Given the description of an element on the screen output the (x, y) to click on. 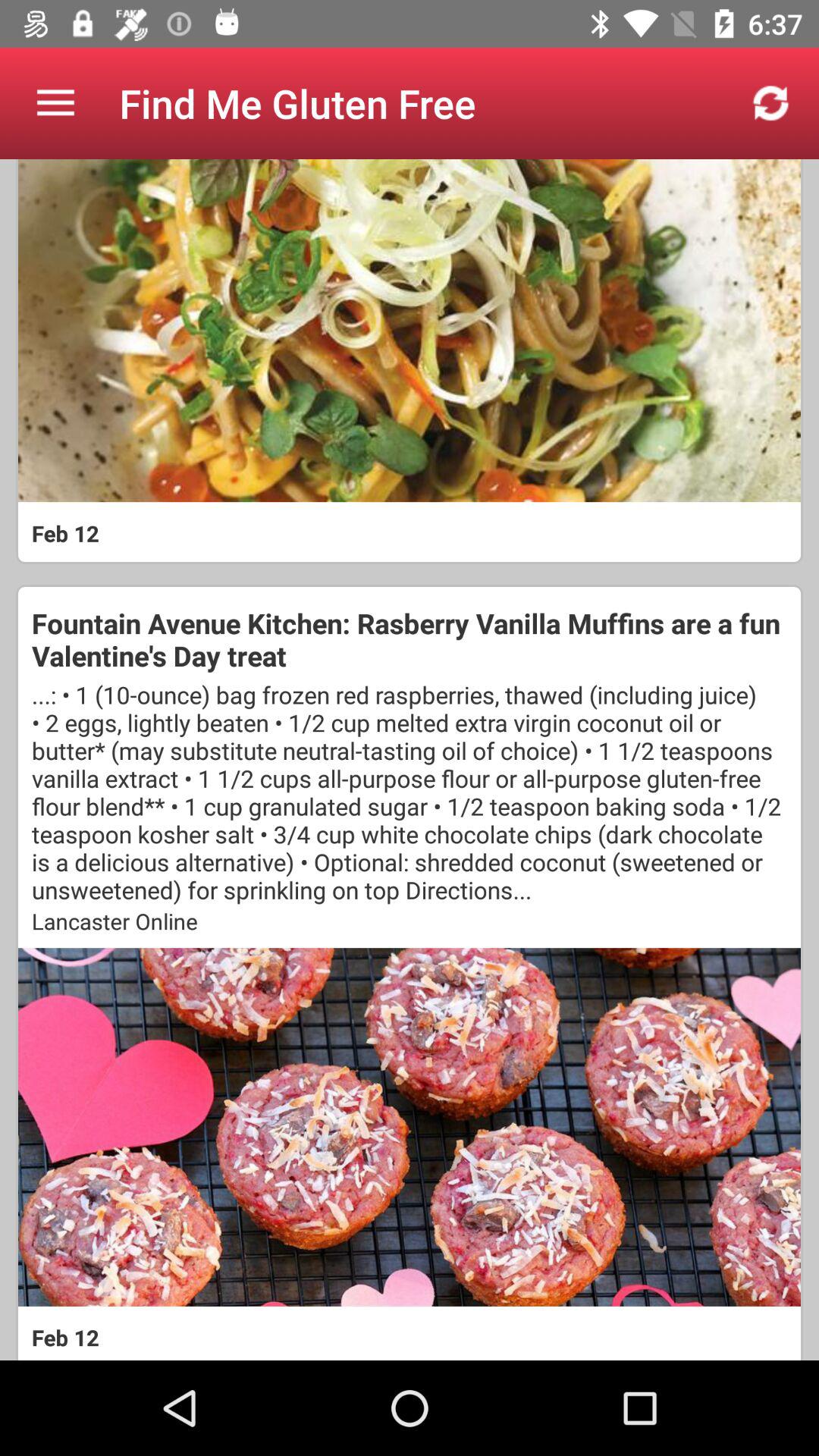
swipe until lancaster online icon (409, 921)
